Given the description of an element on the screen output the (x, y) to click on. 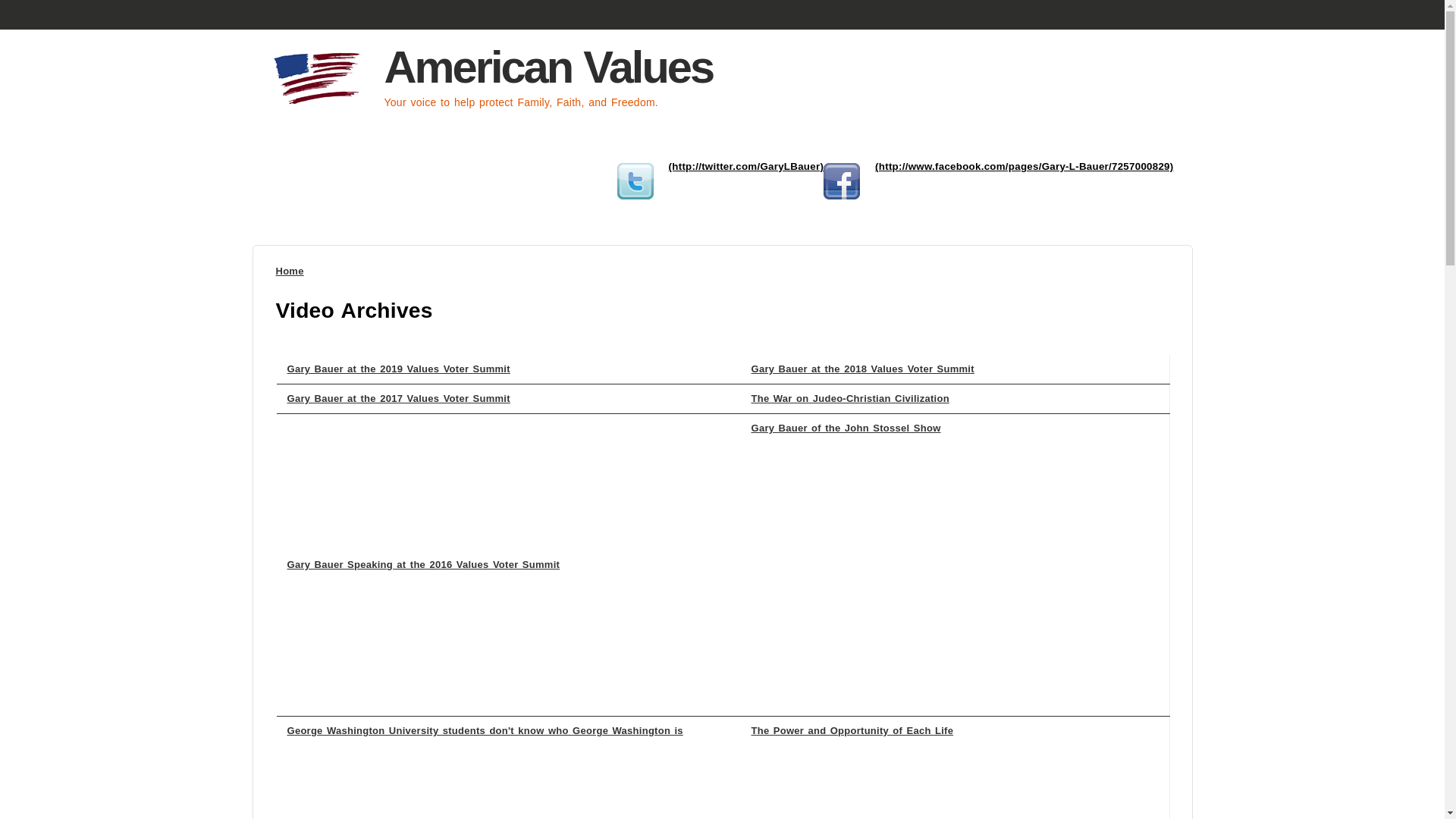
Home (290, 270)
Gary Bauer at the 2017 Values Voter Summit (397, 398)
The Power and Opportunity of Each Life (852, 730)
Gary Bauer of the John Stossel Show (845, 428)
The War on Judeo-Christian Civilization (850, 398)
Home page (321, 104)
Gary Bauer Speaking at the 2016 Values Voter Summit (422, 564)
Gary Bauer at the 2019 Values Voter Summit (397, 368)
